Given the description of an element on the screen output the (x, y) to click on. 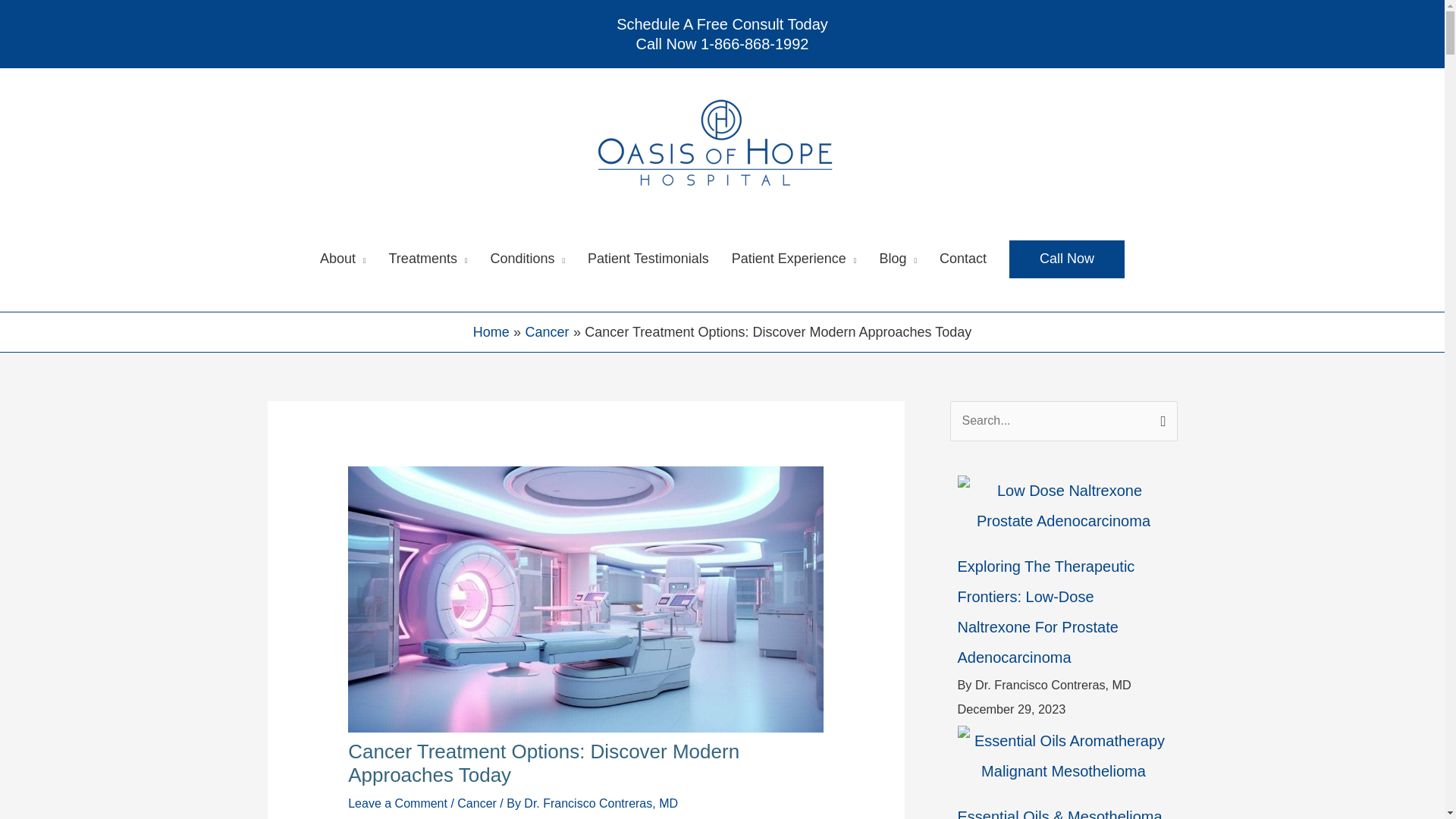
View all posts by Dr. Francisco Contreras, MD (721, 33)
Treatments (601, 802)
